Given the description of an element on the screen output the (x, y) to click on. 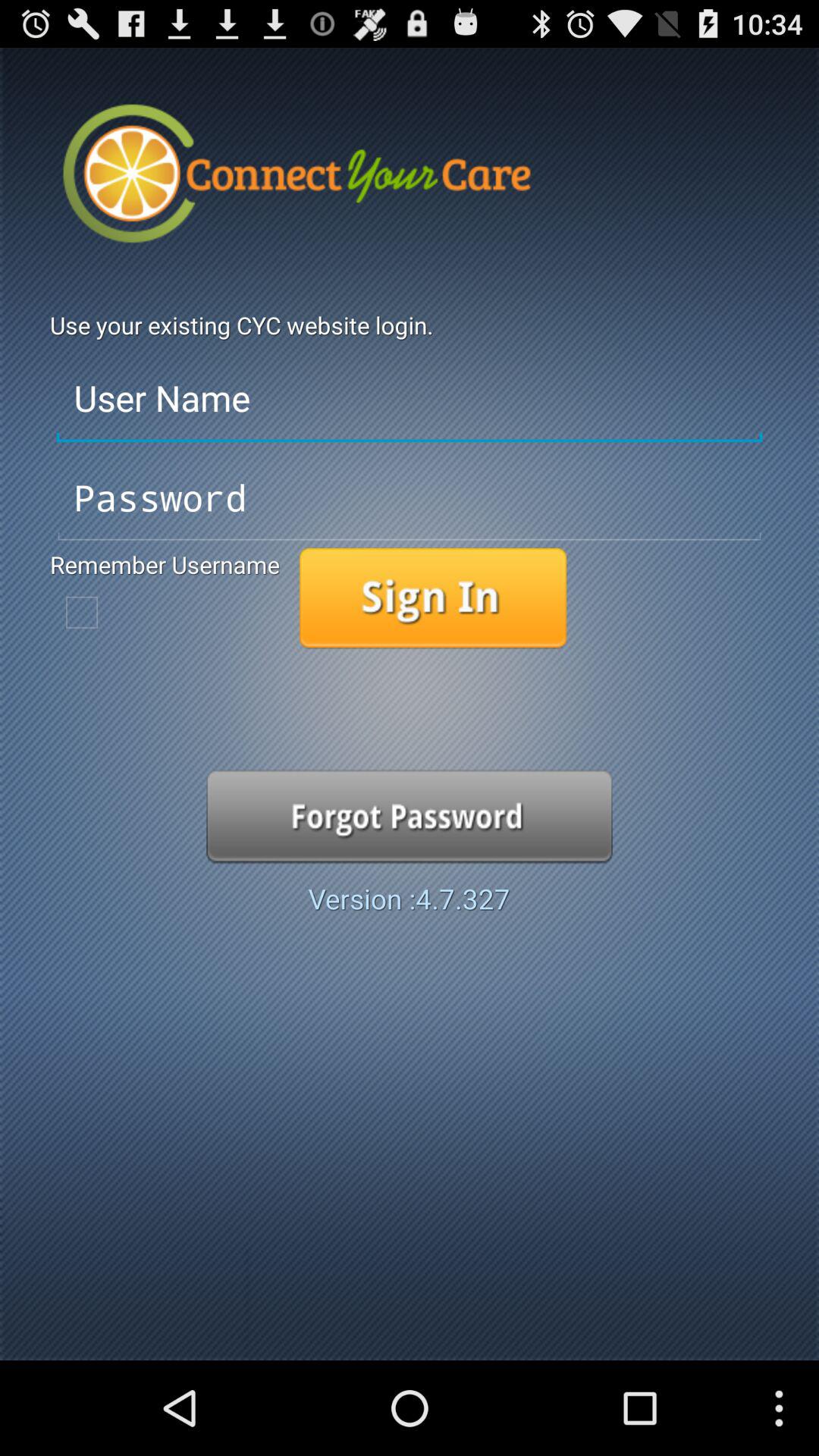
user name entry (409, 398)
